Given the description of an element on the screen output the (x, y) to click on. 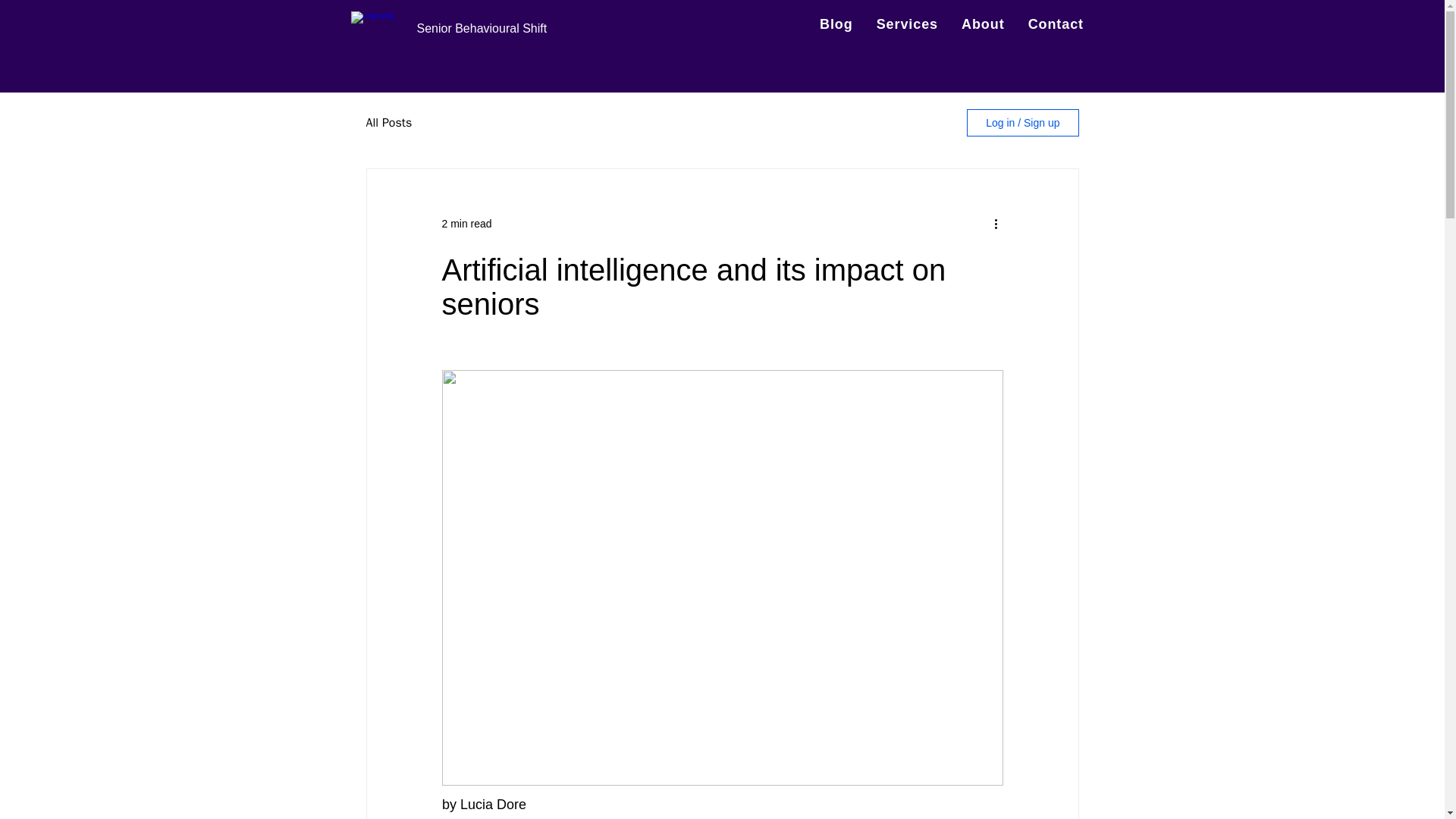
Senior Behavioural Shift (481, 28)
All Posts (388, 123)
Services (906, 24)
About (983, 24)
Contact (1055, 24)
2 min read (466, 223)
Blog (835, 24)
